Given the description of an element on the screen output the (x, y) to click on. 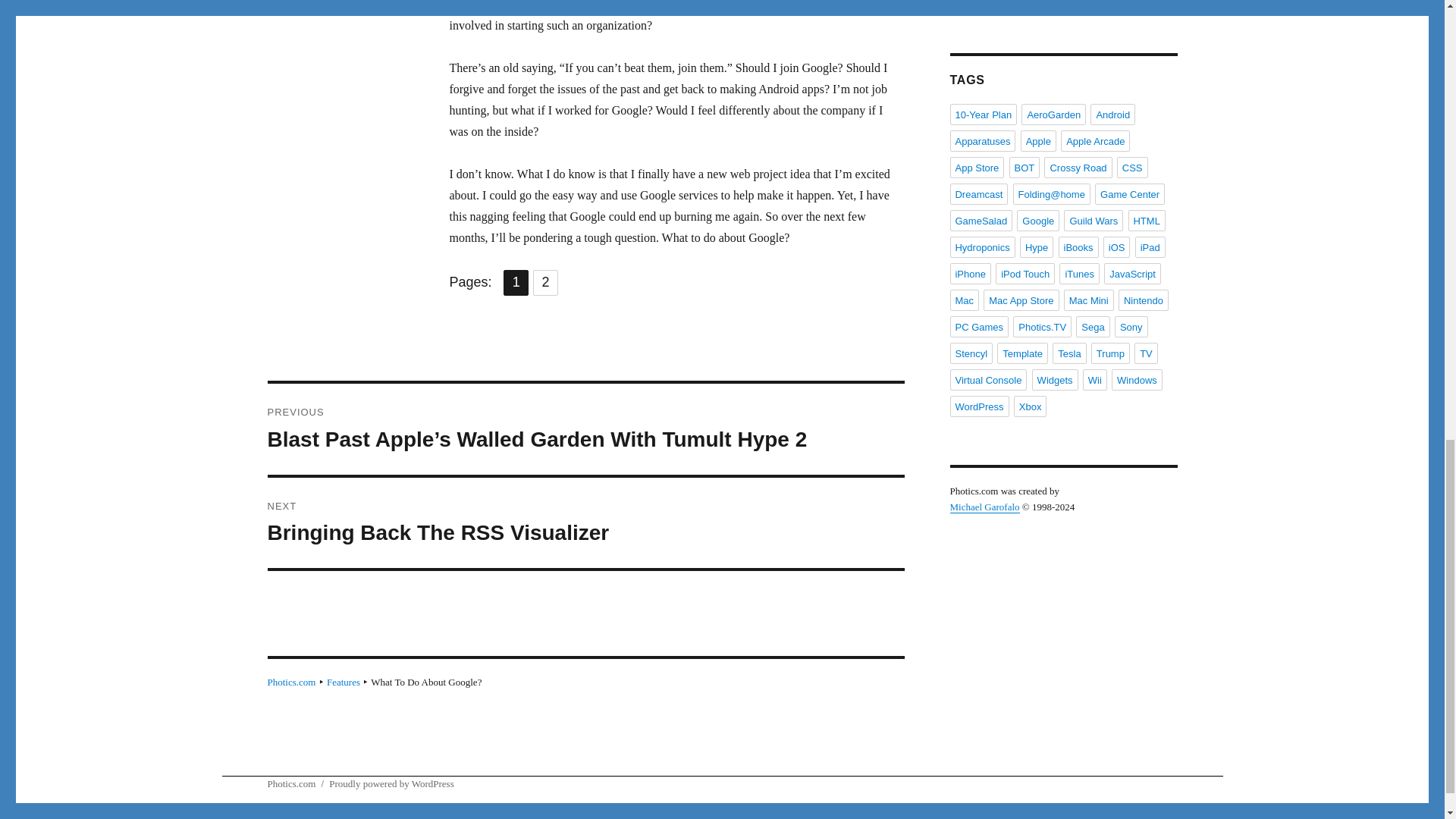
Go to the Features category archives. (342, 681)
Go to Photics.com. (290, 681)
Features (585, 522)
Photics.com (342, 681)
